Given the description of an element on the screen output the (x, y) to click on. 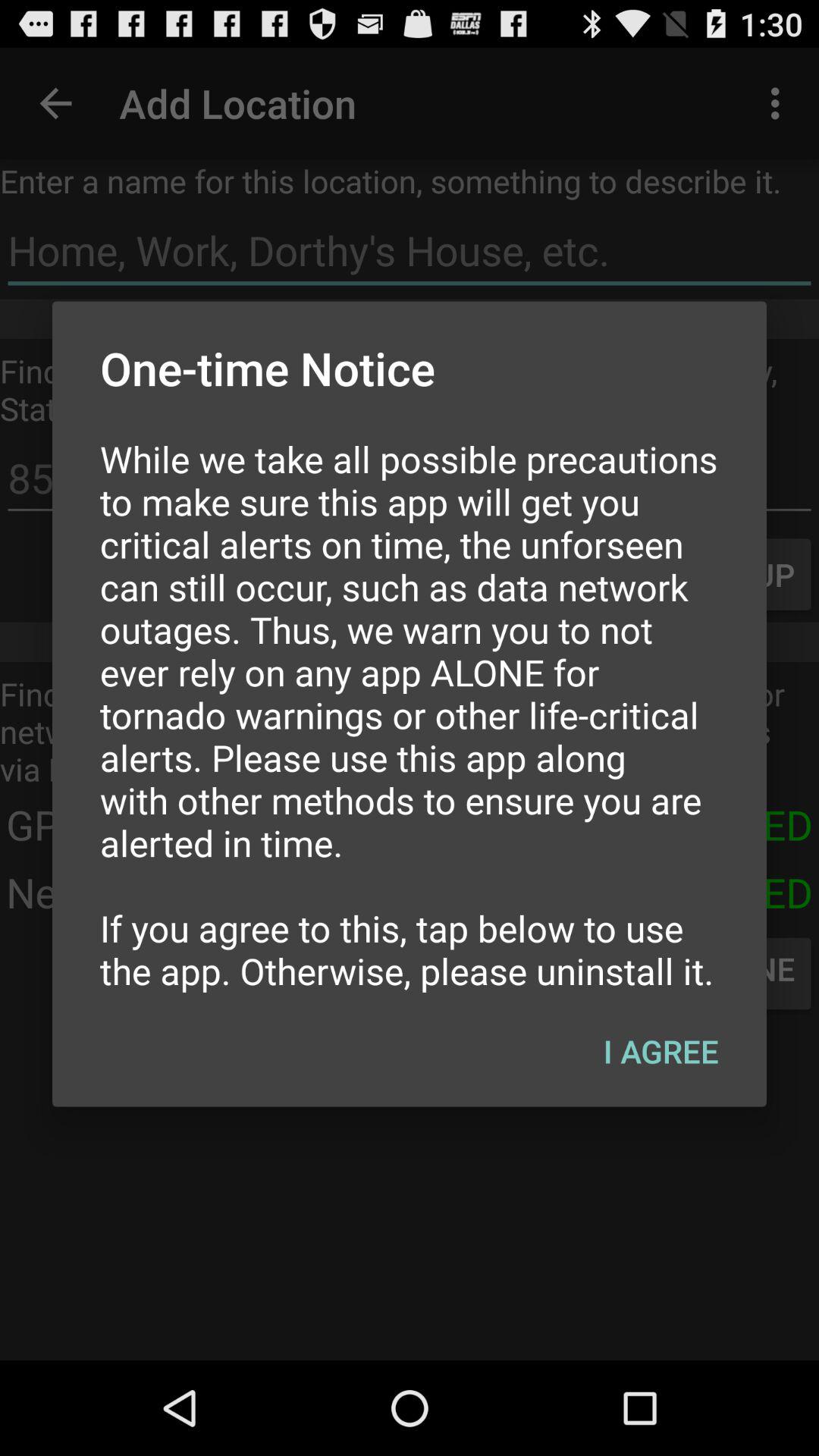
choose the icon below while we take icon (660, 1050)
